Given the description of an element on the screen output the (x, y) to click on. 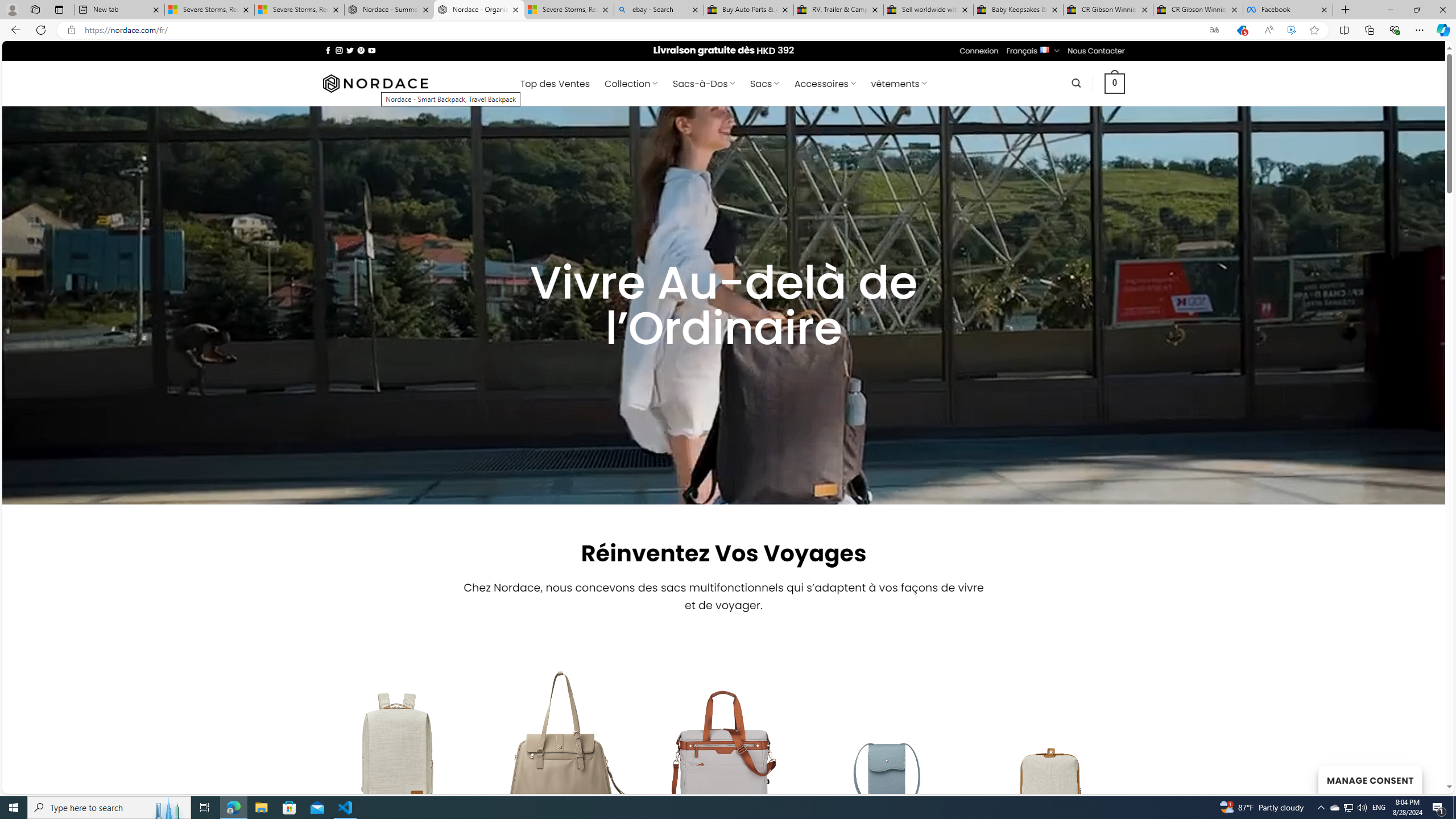
 0  (1115, 83)
Nous suivre sur Youtube (371, 49)
Nous Contacter (1096, 50)
